Given the description of an element on the screen output the (x, y) to click on. 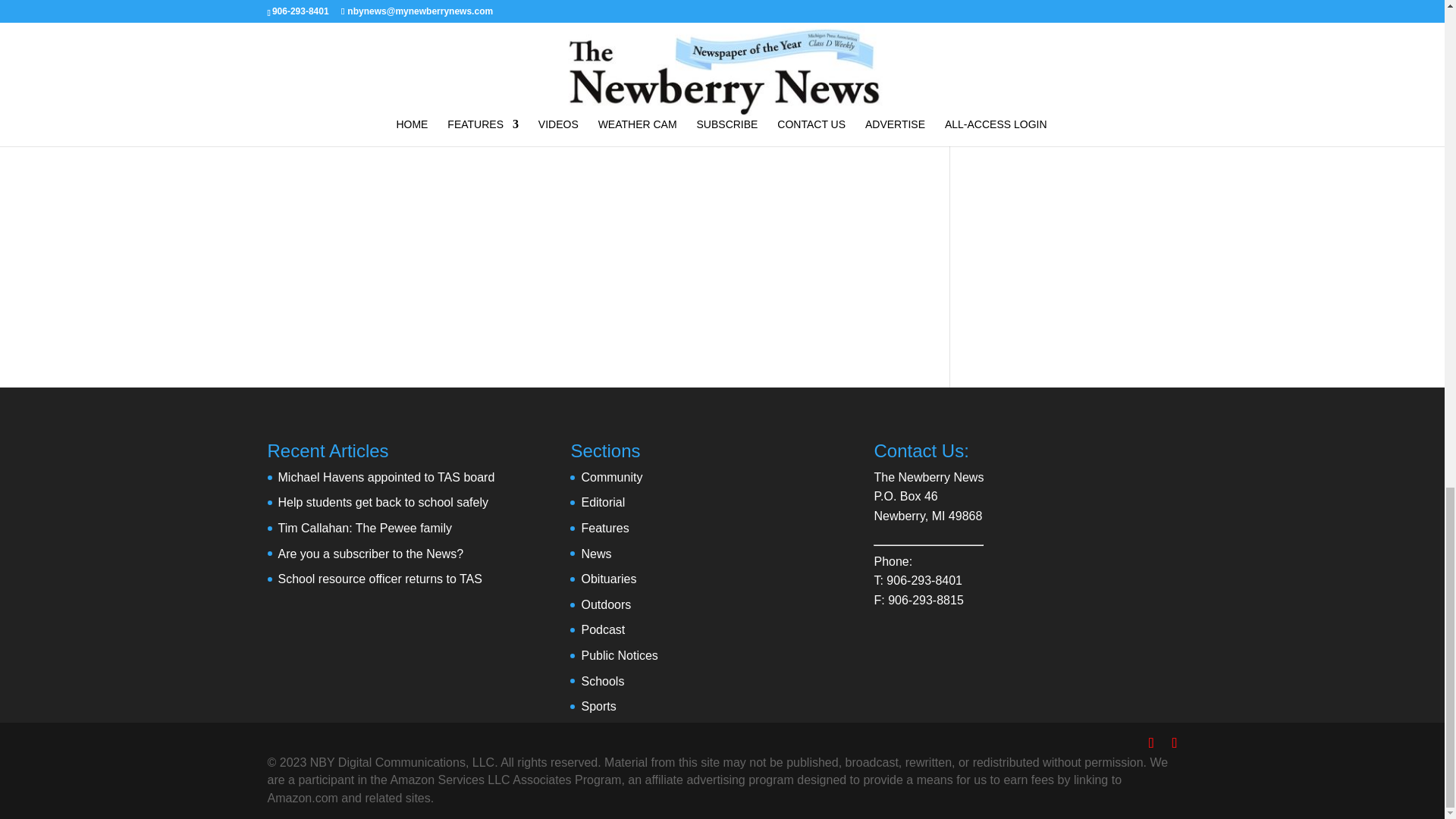
Michael Havens appointed to TAS board (386, 477)
Tim Callahan: The Pewee family (364, 527)
Help students get back to school safely (382, 502)
